Given the description of an element on the screen output the (x, y) to click on. 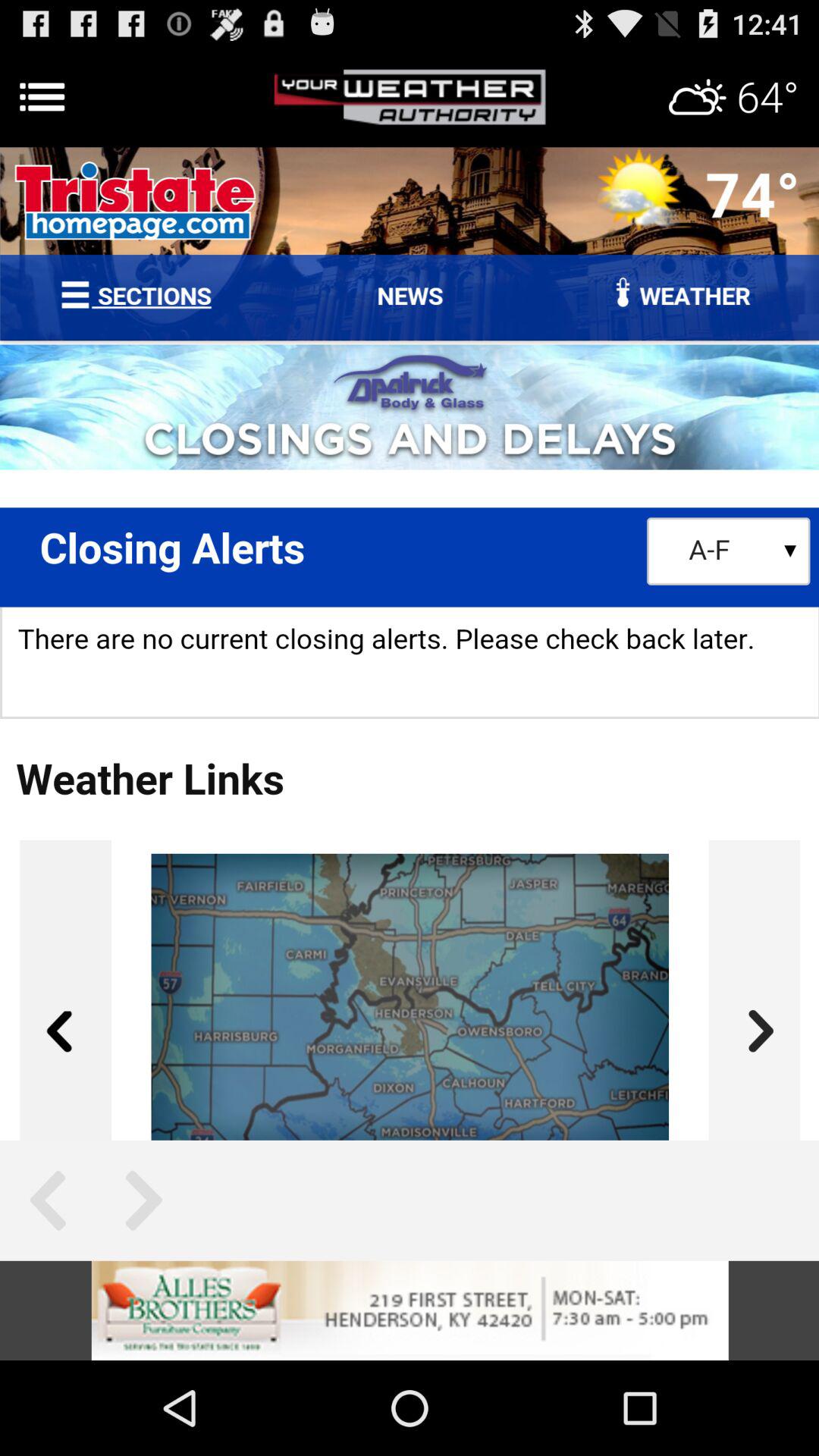
visit this advertiser page (409, 1310)
